Given the description of an element on the screen output the (x, y) to click on. 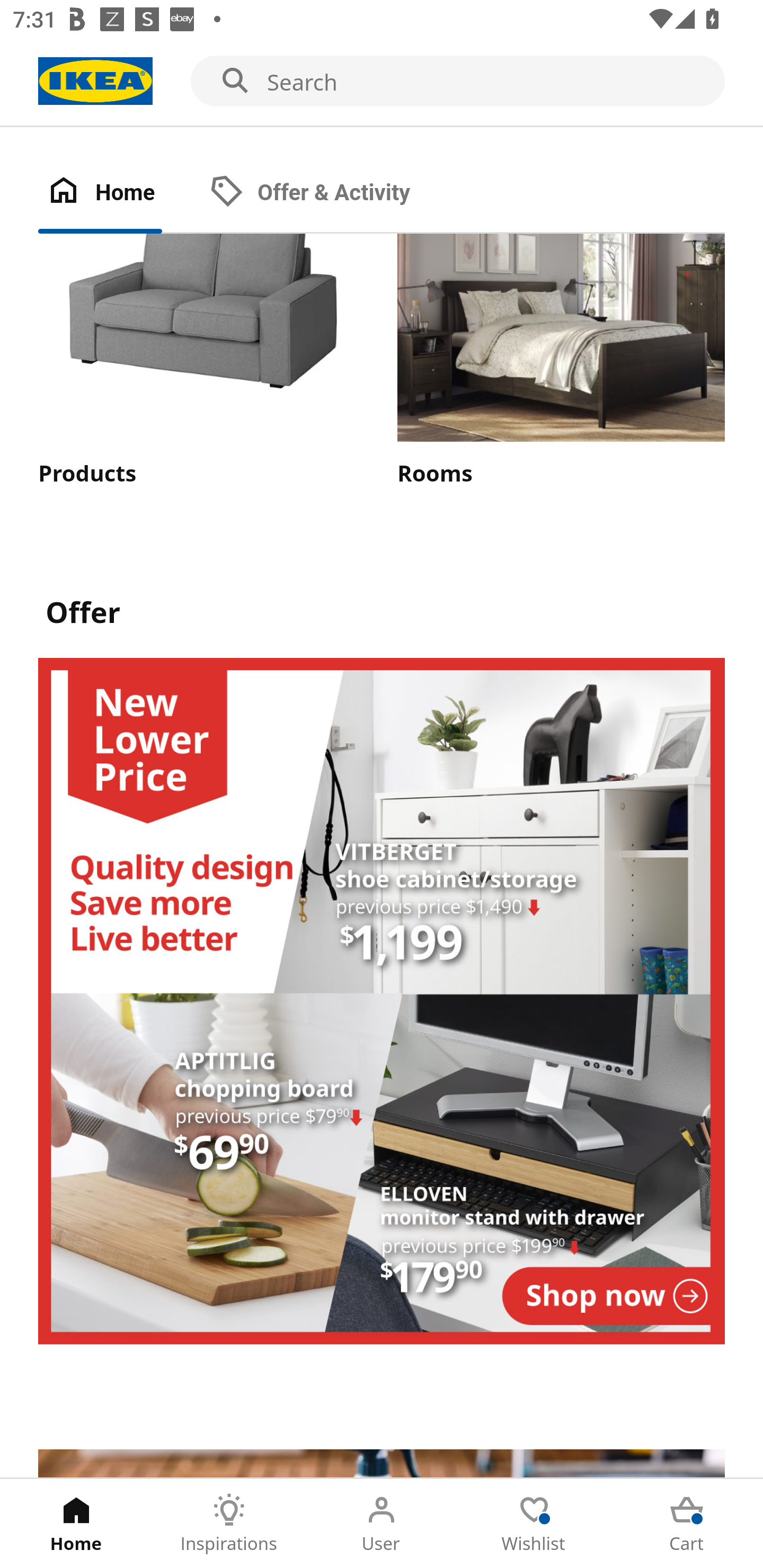
Search (381, 81)
Home
Tab 1 of 2 (118, 192)
Offer & Activity
Tab 2 of 2 (327, 192)
Products (201, 361)
Rooms (560, 361)
Home
Tab 1 of 5 (76, 1522)
Inspirations
Tab 2 of 5 (228, 1522)
User
Tab 3 of 5 (381, 1522)
Wishlist
Tab 4 of 5 (533, 1522)
Cart
Tab 5 of 5 (686, 1522)
